Given the description of an element on the screen output the (x, y) to click on. 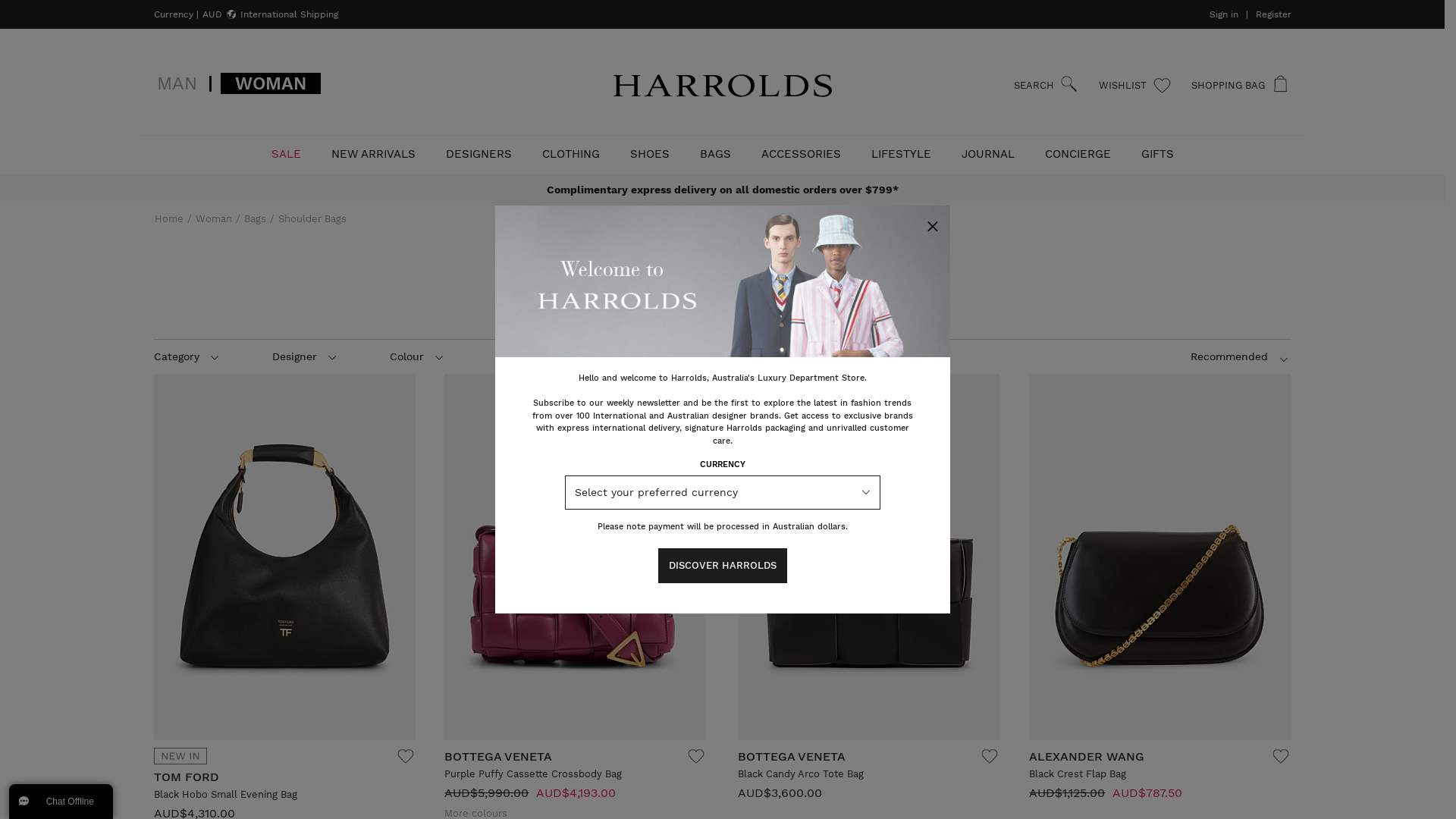
ADD TO WISHLIST Element type: text (1280, 757)
Register Element type: text (1273, 14)
BAGS Element type: text (714, 154)
BOTTEGA VENETA Element type: text (498, 756)
Bags Element type: text (255, 217)
Sign in Element type: text (1222, 14)
SALE Element type: text (285, 154)
TOM FORD Element type: text (185, 777)
ADD TO WISHLIST Element type: text (989, 757)
LIFESTYLE Element type: text (900, 154)
Purple Puffy Cassette Crossbody Bag Element type: text (532, 772)
ALEXANDER WANG Element type: text (1086, 756)
SEARCH Element type: text (1046, 85)
CONCIERGE Element type: text (1077, 154)
Black Candy Arco Tote Bag Element type: text (800, 772)
GIFTS Element type: text (1156, 154)
BOTTEGA VENETA Element type: text (791, 756)
ADD TO WISHLIST Element type: text (405, 757)
WOMAN Element type: text (269, 83)
SHOES Element type: text (648, 154)
CLOTHING Element type: text (569, 154)
Woman Element type: text (213, 217)
NEW ARRIVALS Element type: text (372, 154)
ACCESSORIES Element type: text (800, 154)
DISCOVER HARROLDS Element type: text (722, 565)
SHOPPING BAG Element type: text (1235, 85)
MAN Element type: text (176, 83)
ADD TO WISHLIST Element type: text (696, 757)
Black Crest Flap Bag Element type: text (1077, 772)
WISHLIST Element type: text (1134, 85)
Black Hobo Small Evening Bag Element type: text (224, 794)
DESIGNERS Element type: text (478, 154)
Home Element type: text (168, 217)
JOURNAL Element type: text (987, 154)
